Given the description of an element on the screen output the (x, y) to click on. 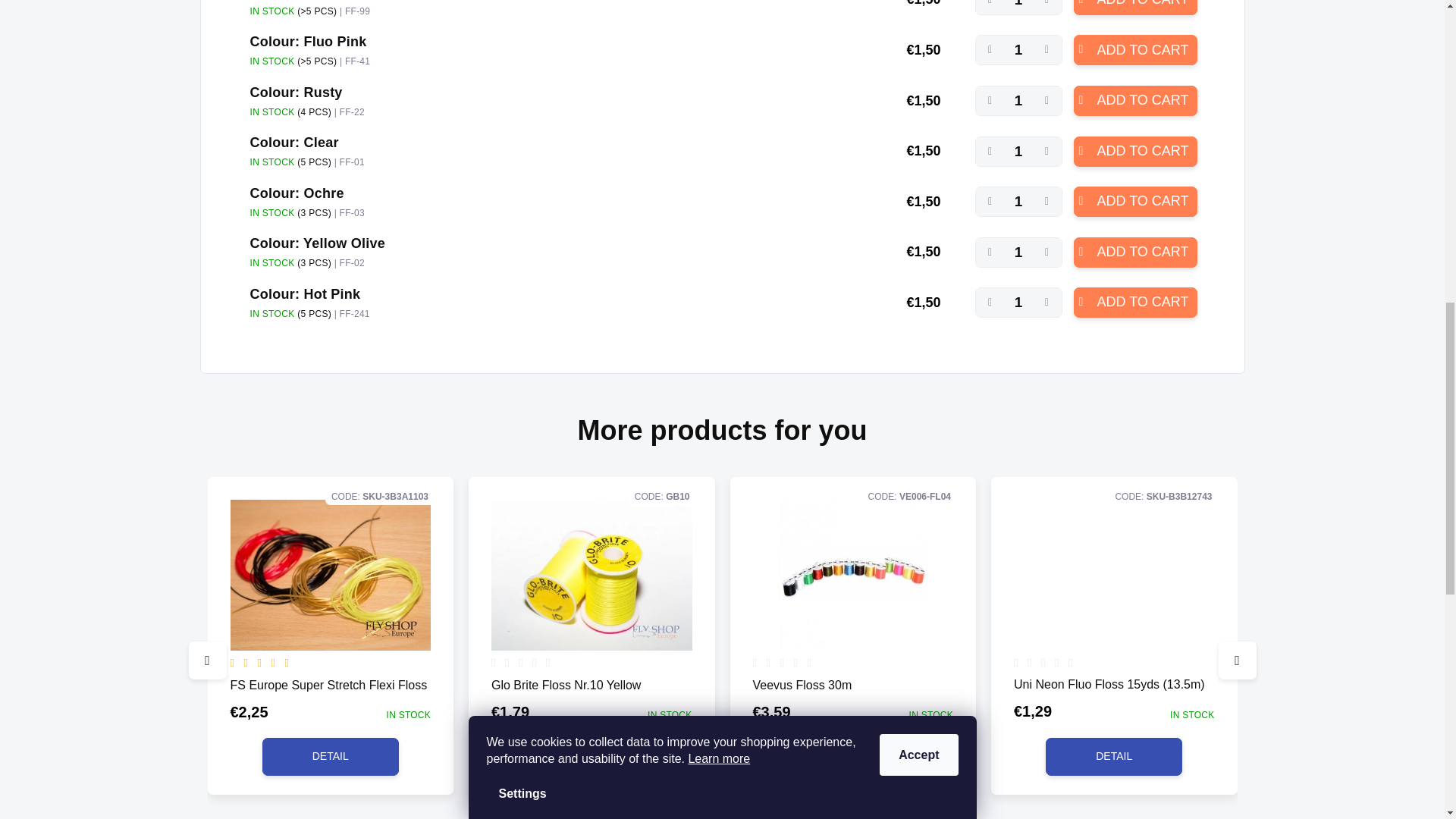
1 (1018, 50)
1 (1018, 7)
1 (1018, 302)
1 (1018, 151)
1 (1018, 100)
1 (1018, 201)
1 (1018, 252)
